Given the description of an element on the screen output the (x, y) to click on. 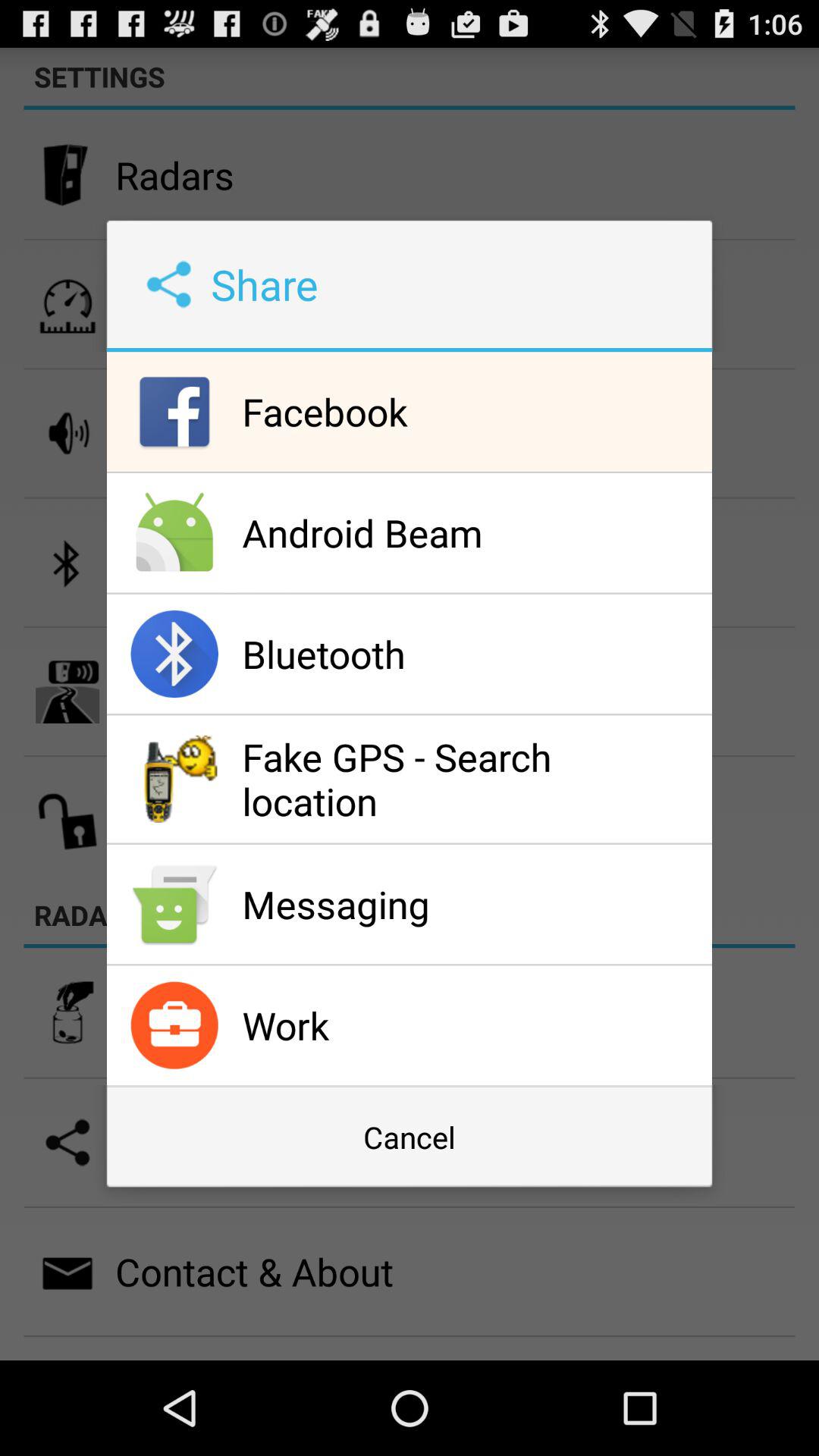
scroll until the messaging (473, 903)
